Given the description of an element on the screen output the (x, y) to click on. 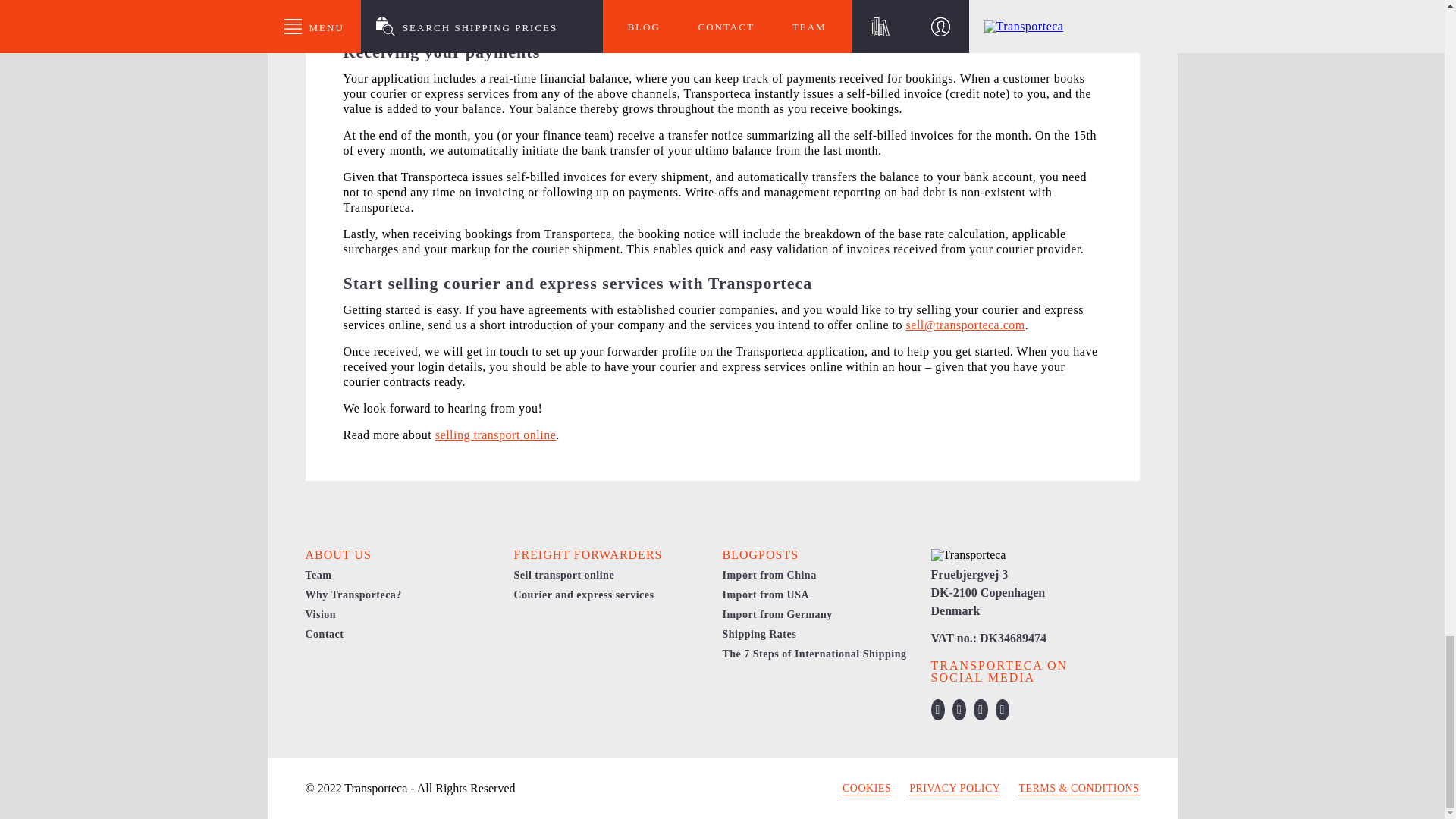
Contact (323, 633)
Why Transporteca? (352, 594)
Import from USA (765, 594)
Team (317, 574)
Vision (320, 614)
selling transport online (495, 434)
Import from China (768, 574)
Sell transport online (563, 574)
Courier and express services (583, 594)
